Given the description of an element on the screen output the (x, y) to click on. 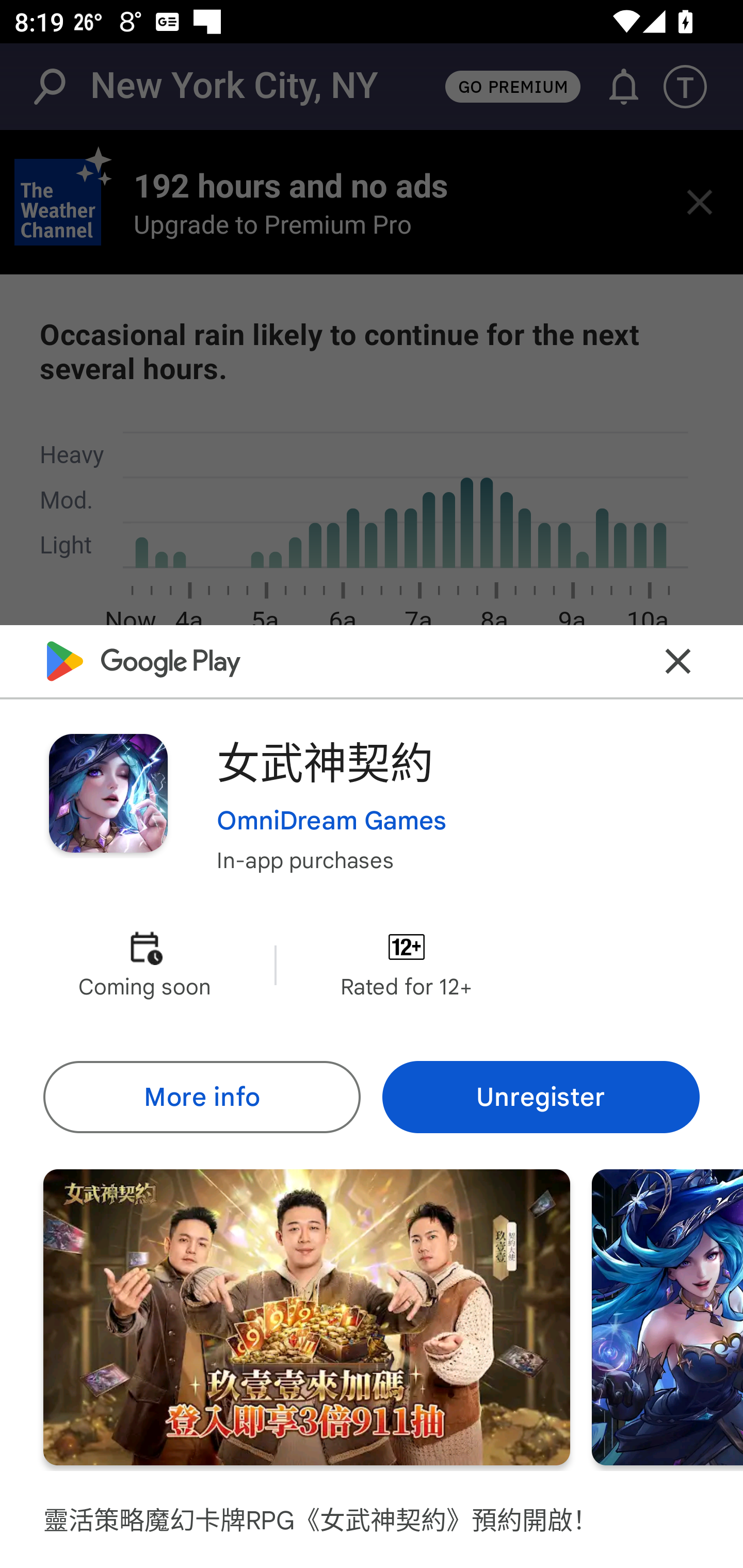
Close (677, 661)
Image of app or game icon for 女武神契約 (108, 792)
OmniDream Games (331, 820)
More info (201, 1097)
Unregister (540, 1097)
Screenshot "1" of "5" (306, 1317)
Screenshot "2" of "5" (667, 1317)
